Given the description of an element on the screen output the (x, y) to click on. 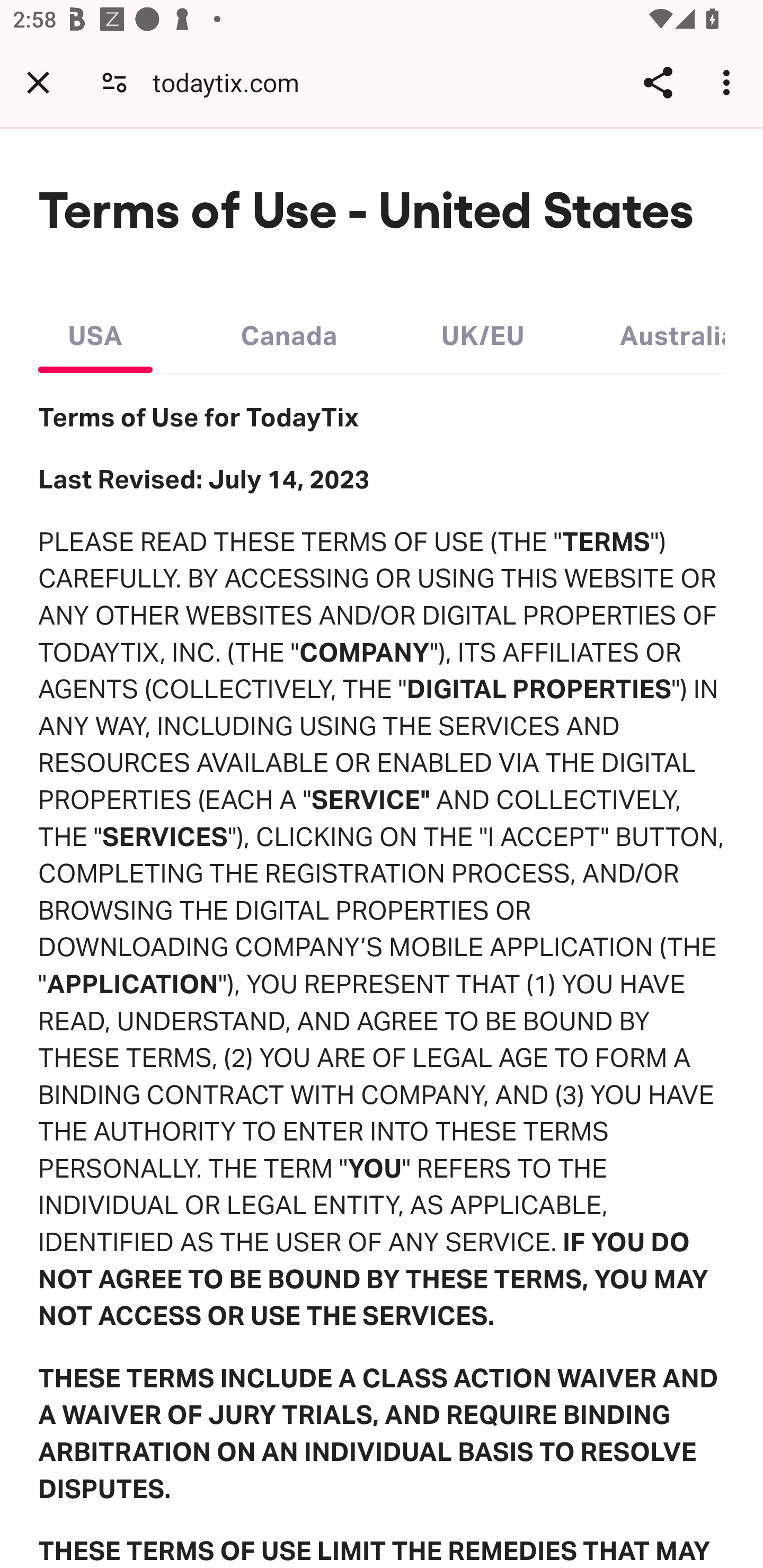
Close tab (38, 82)
Share (657, 82)
Customize and control Google Chrome (729, 82)
Connection is secure (114, 81)
todaytix.com (232, 81)
USA (95, 330)
Canada (288, 330)
UK/EU (482, 330)
